Given the description of an element on the screen output the (x, y) to click on. 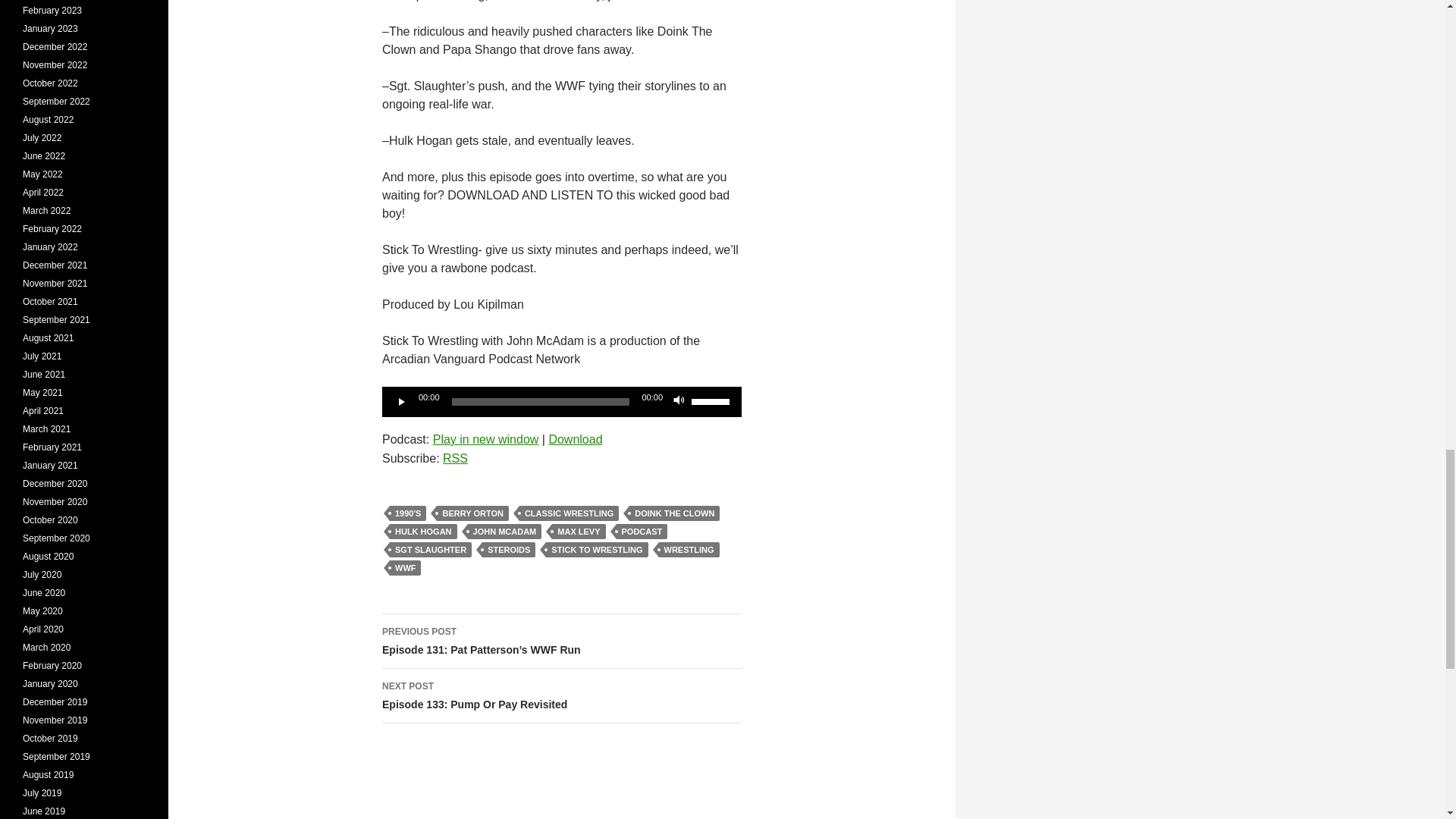
STICK TO WRESTLING (596, 549)
WWF (405, 567)
Download (575, 439)
Download (575, 439)
Play (401, 401)
WRESTLING (689, 549)
STEROIDS (508, 549)
1990'S (408, 513)
SGT SLAUGHTER (430, 549)
Play in new window (485, 439)
HULK HOGAN (423, 531)
JOHN MCADAM (504, 531)
BERRY ORTON (561, 696)
PODCAST (472, 513)
